Given the description of an element on the screen output the (x, y) to click on. 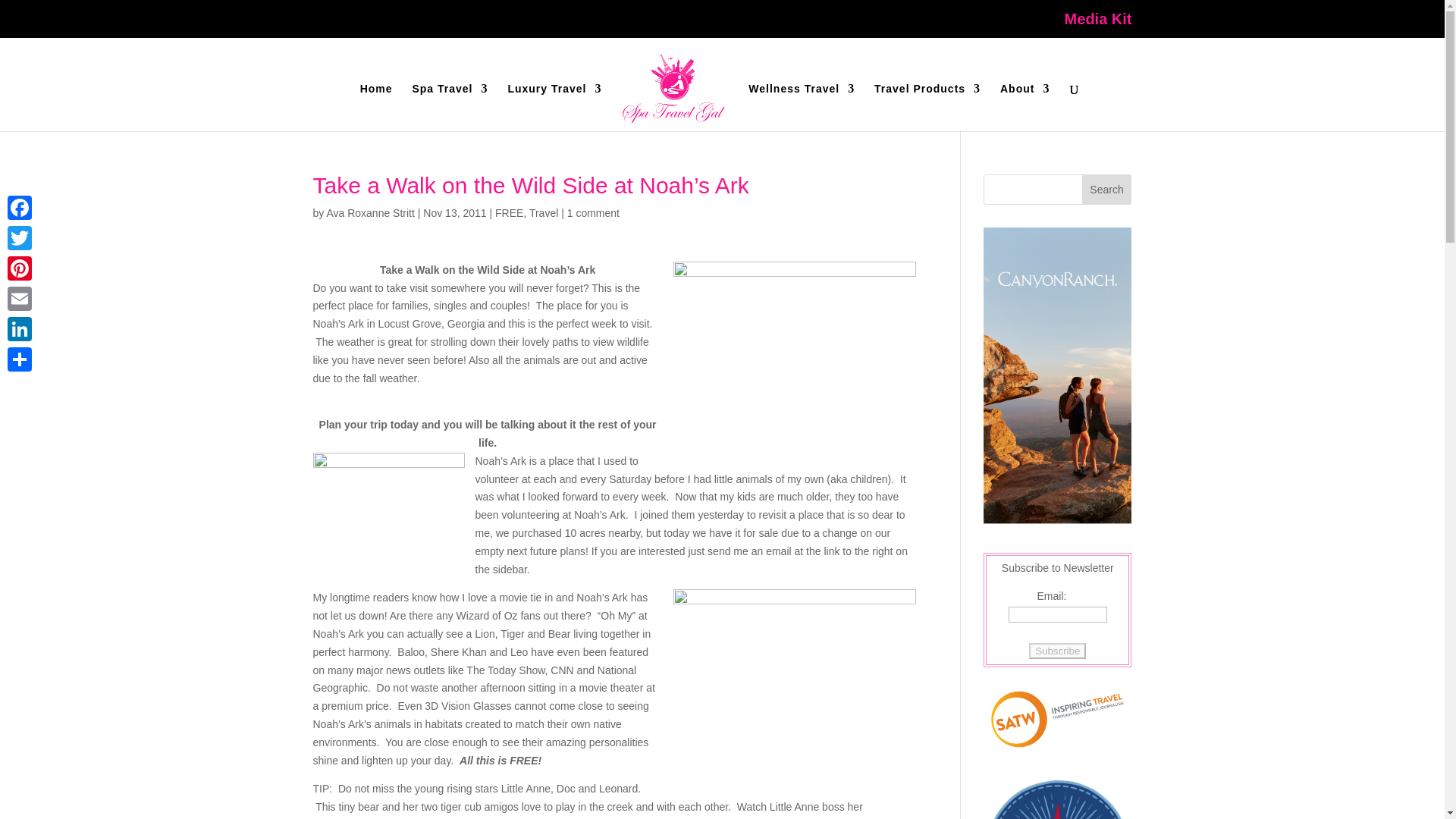
Posts by Ava Roxanne Stritt (369, 213)
Media Kit (1098, 24)
Subscribe (1057, 650)
Luxury Travel (553, 107)
Wellness Travel (801, 107)
Spa Travel (449, 107)
Travel Products (927, 107)
Facebook (19, 207)
About (1024, 107)
Search (1106, 189)
